Given the description of an element on the screen output the (x, y) to click on. 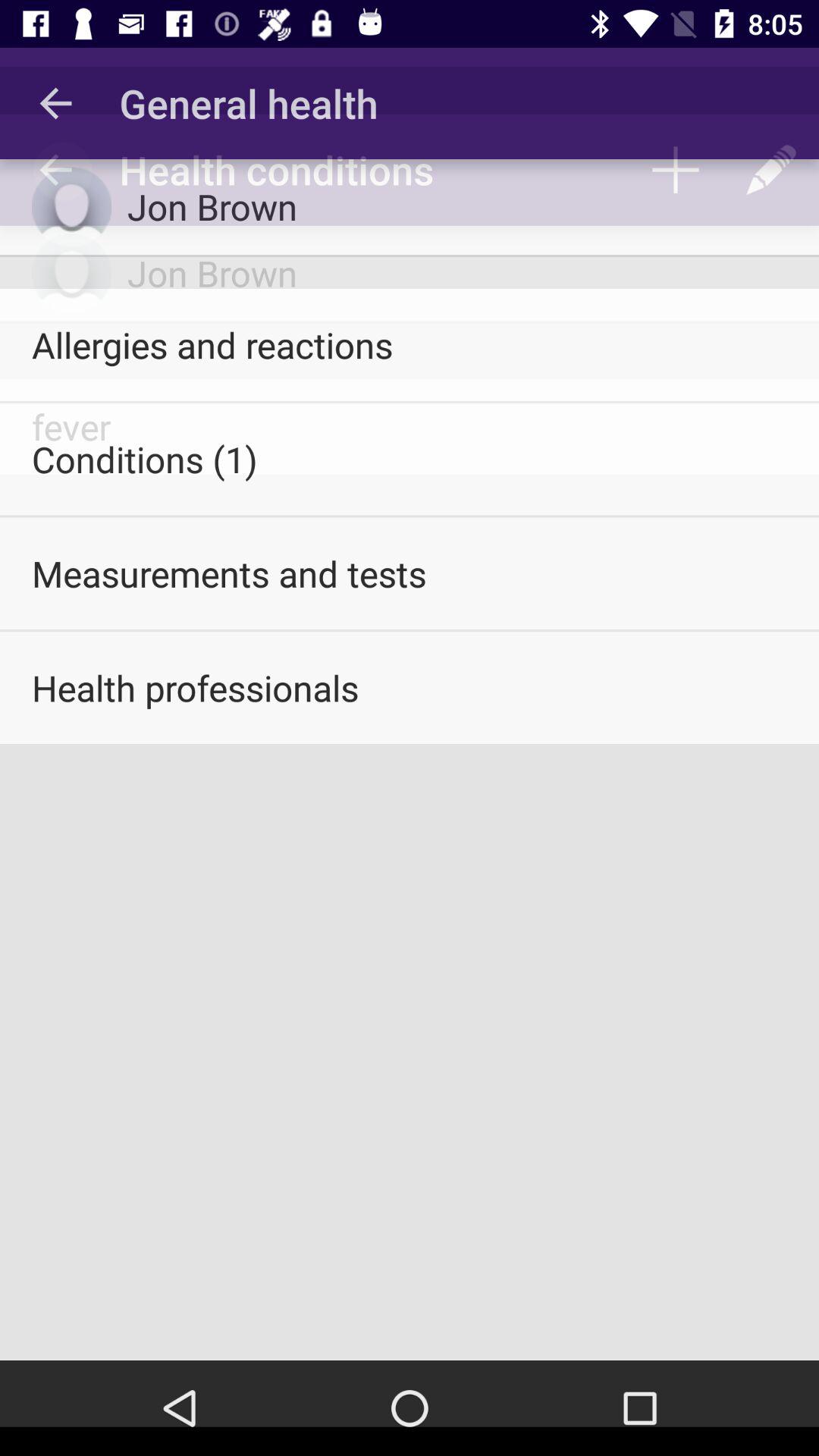
swipe until measurements and tests item (409, 573)
